Given the description of an element on the screen output the (x, y) to click on. 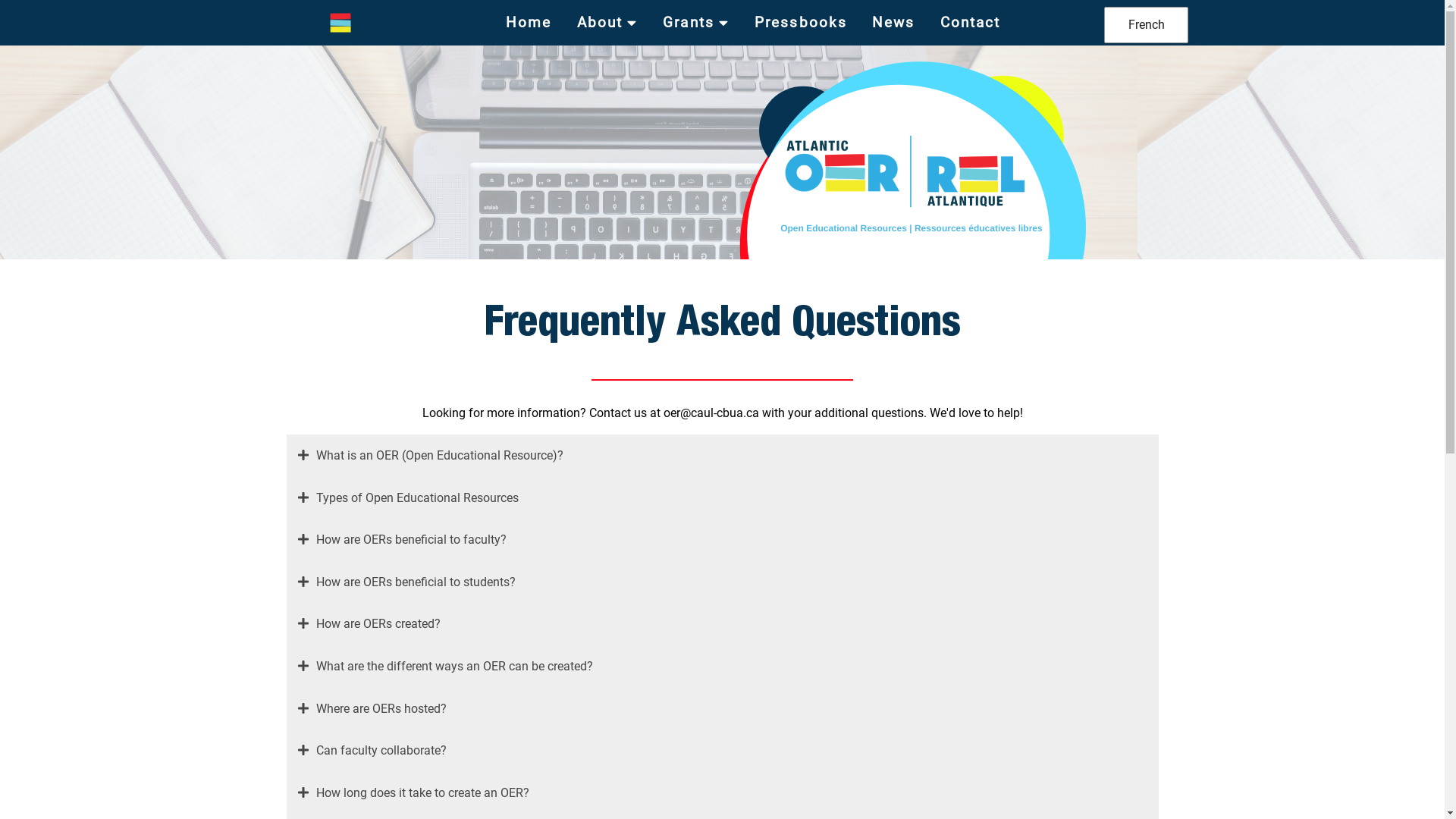
About Element type: text (607, 22)
Types of Open Educational Resources Element type: text (722, 497)
How are OERs beneficial to faculty? Element type: text (722, 539)
How are OERs created? Element type: text (722, 623)
News Element type: text (893, 22)
How long does it take to create an OER? Element type: text (722, 792)
Where are OERs hosted? Element type: text (722, 708)
How are OERs beneficial to students? Element type: text (722, 582)
Contact Element type: text (970, 22)
Home Element type: text (528, 22)
Can faculty collaborate? Element type: text (722, 750)
What are the different ways an OER can be created? Element type: text (722, 666)
Grants Element type: text (695, 22)
What is an OER (Open Educational Resource)? Element type: text (722, 455)
French Element type: text (1145, 24)
Pressbooks Element type: text (800, 22)
